Given the description of an element on the screen output the (x, y) to click on. 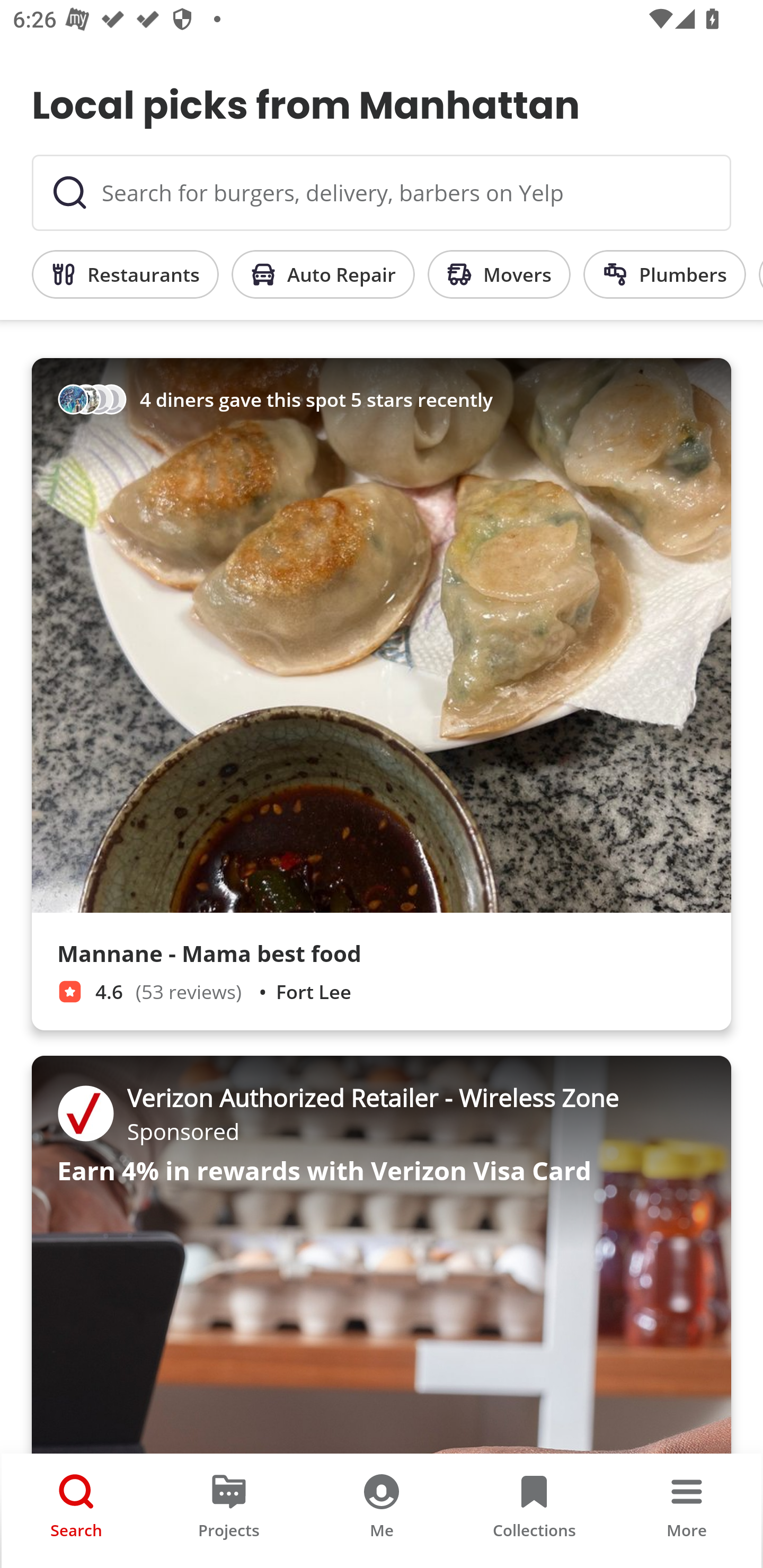
Search for burgers, delivery, barbers on Yelp (381, 192)
